Given the description of an element on the screen output the (x, y) to click on. 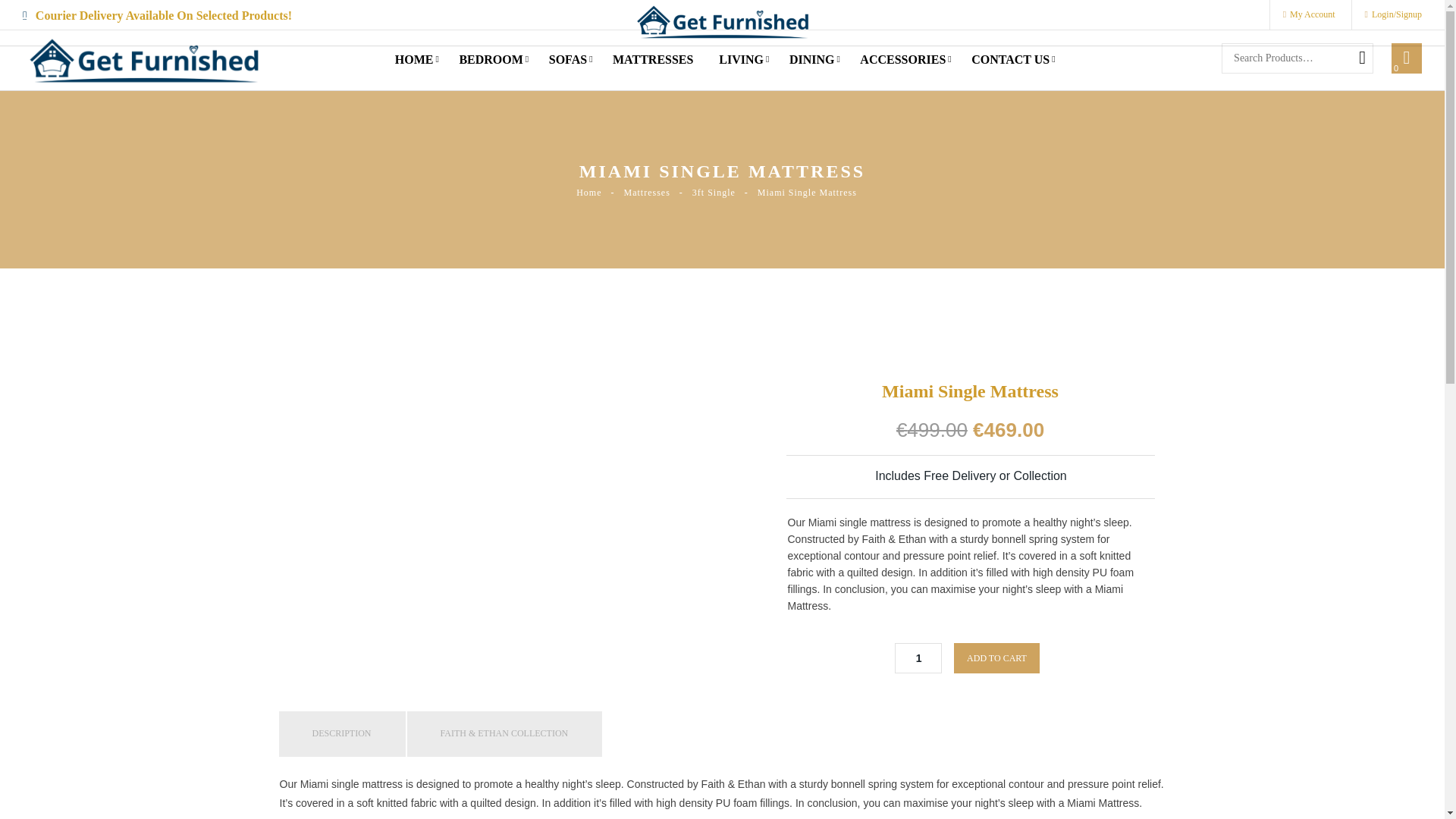
1 (918, 657)
MATTRESSES (652, 60)
My Account (1308, 14)
Get Furnished (721, 21)
SOFAS (567, 60)
Search for: (1297, 58)
DINING (811, 60)
BEDROOM (490, 60)
HOME (414, 60)
LIVING (740, 60)
